Given the description of an element on the screen output the (x, y) to click on. 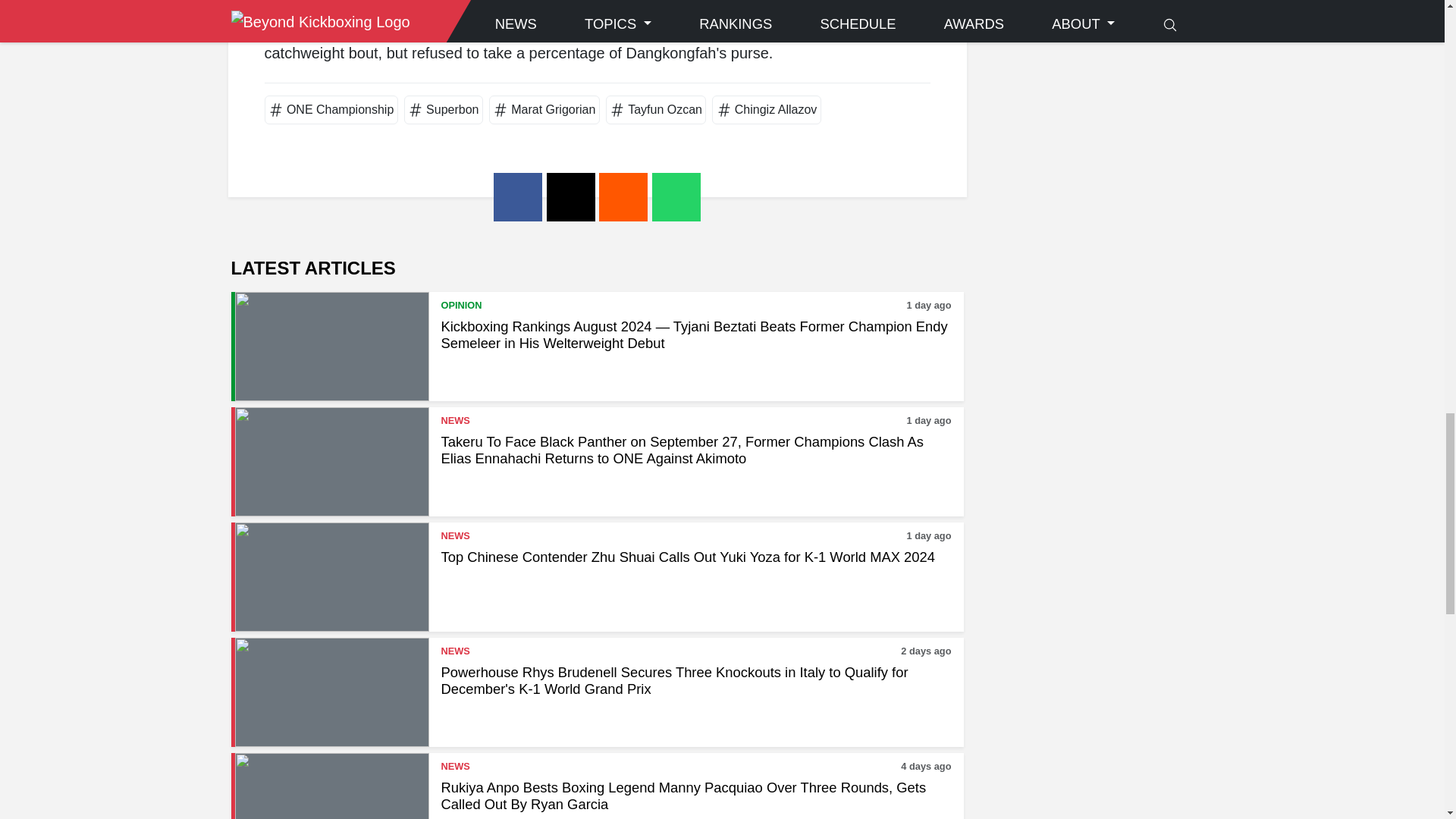
Marat Grigorian (553, 109)
Tayfun Ozcan (664, 109)
ONE Championship (339, 109)
Superbon (452, 109)
Chingiz Allazov (775, 109)
